Given the description of an element on the screen output the (x, y) to click on. 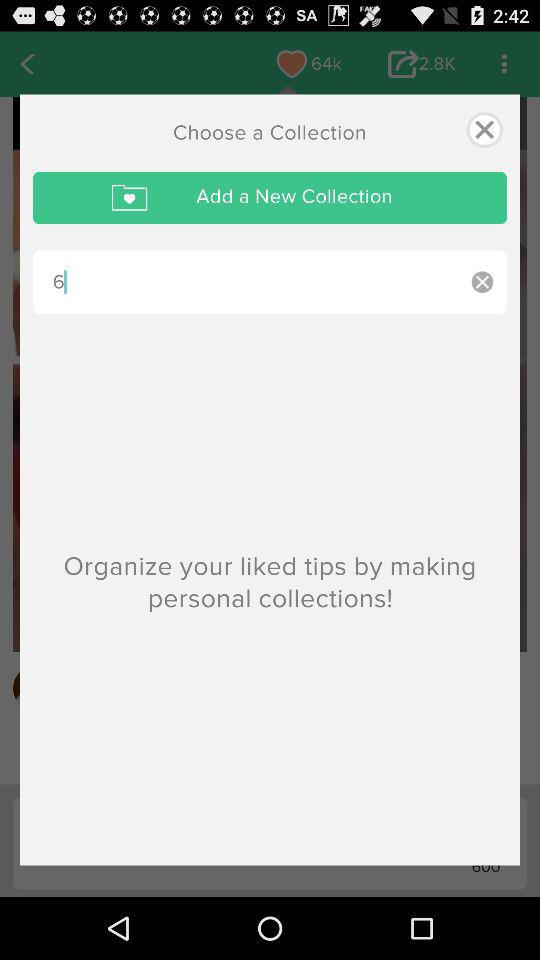
swipe to add a new (270, 197)
